Given the description of an element on the screen output the (x, y) to click on. 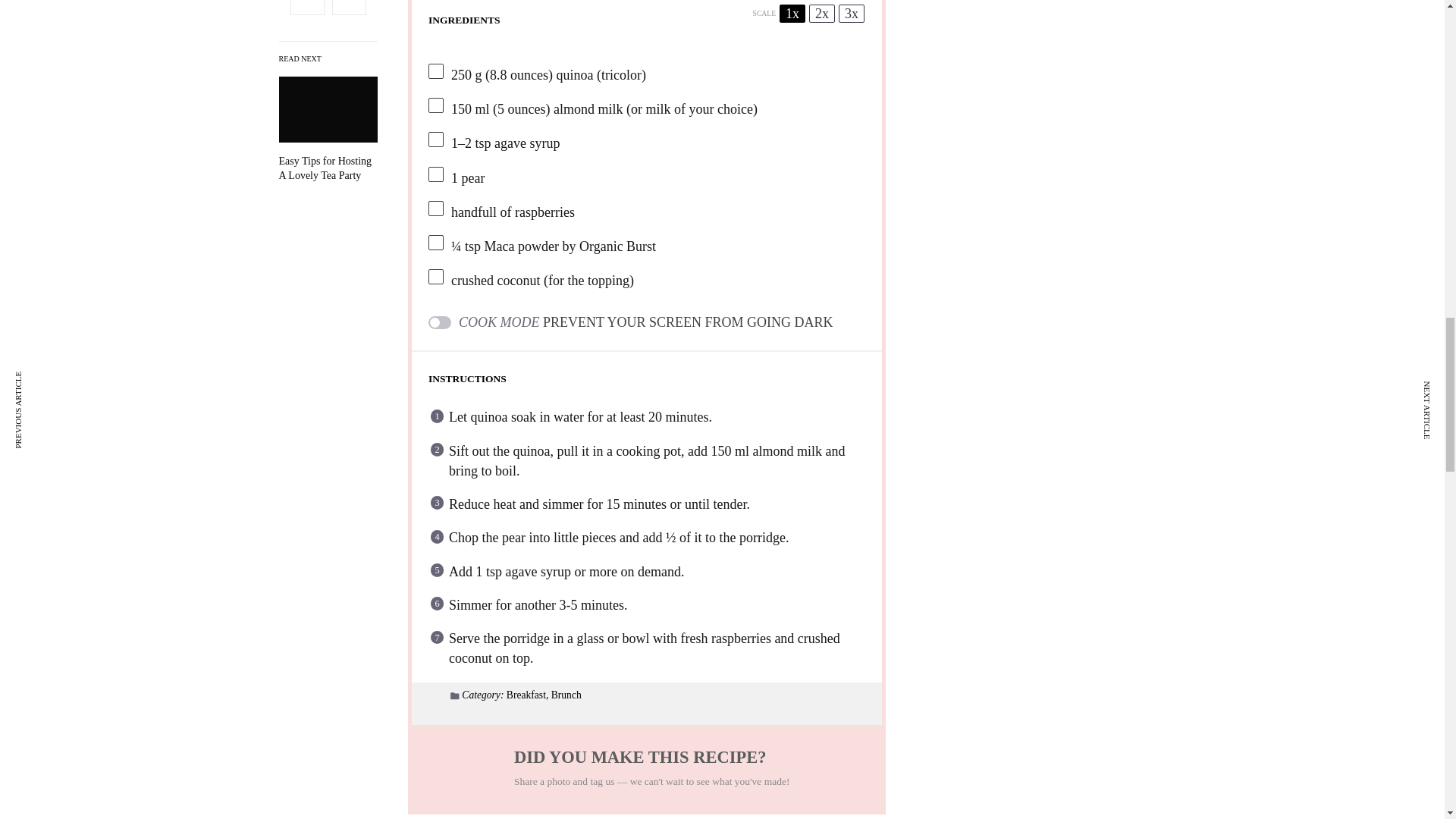
Easy Tips for Hosting A Lovely Tea Party (328, 168)
Quinoa Breakfast Porridge (328, 168)
